Given the description of an element on the screen output the (x, y) to click on. 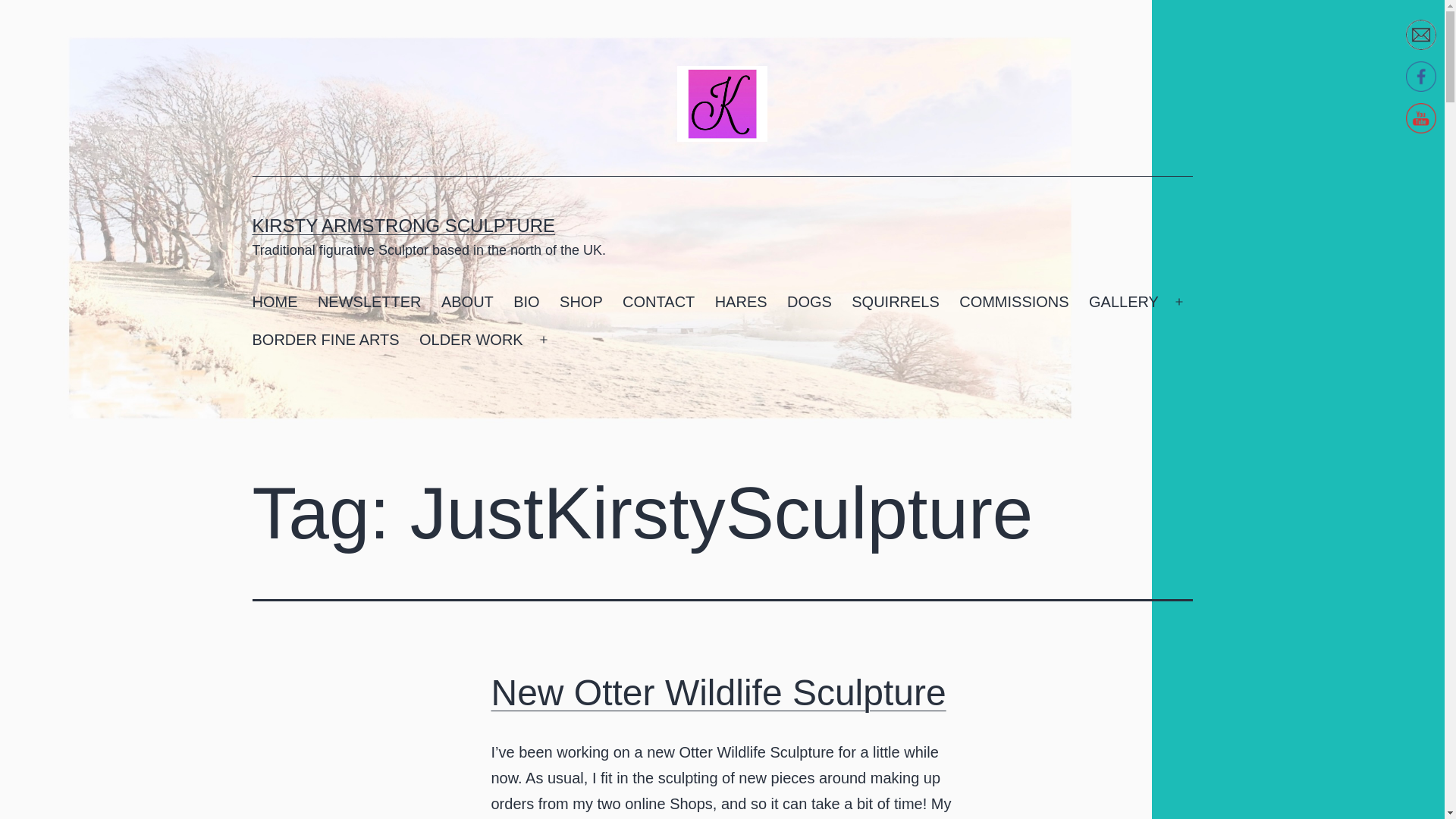
Kirsty Armstrong Biography (526, 301)
NEWSLETTER (368, 301)
KIRSTY ARMSTRONG SCULPTURE (402, 225)
GALLERY (1123, 301)
HOME (274, 301)
About Kirsty Armstrong Sculpture (466, 301)
CONTACT (658, 301)
Dogs by Kirsty Armstrong Sculpture (809, 301)
Red Squirrel Sculptures by Kirsty Armstrong (895, 301)
New Otter Wildlife Sculpture (719, 692)
A gallery of work by Kirsty Armstrong Sculpture (1123, 301)
BIO (526, 301)
SQUIRRELS (895, 301)
OLDER WORK (470, 340)
Kirsty Armstrong Sculpture Newsletter (368, 301)
